Given the description of an element on the screen output the (x, y) to click on. 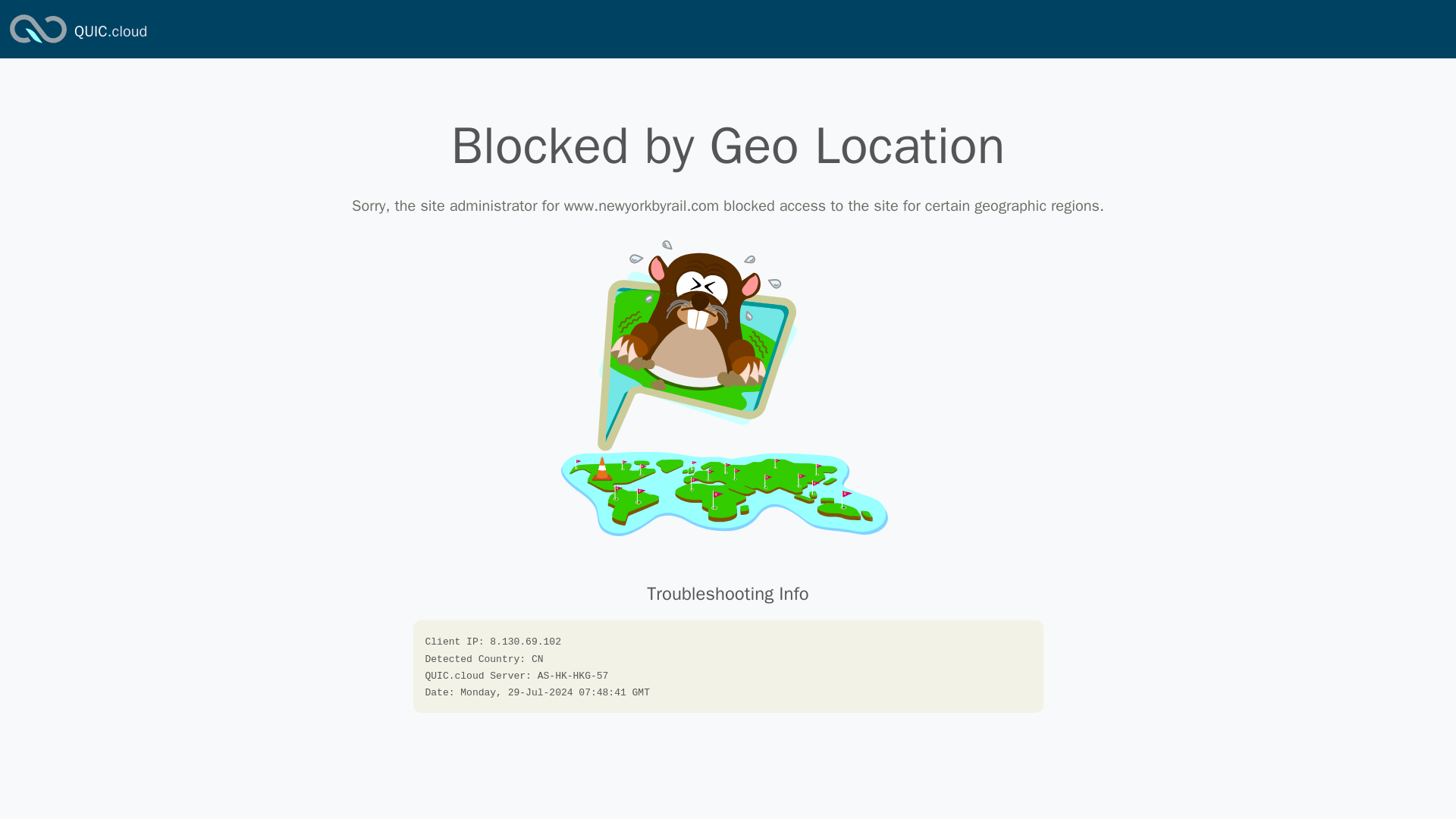
QUIC.cloud (110, 31)
QUIC.cloud (110, 31)
QUIC.cloud (37, 43)
